Given the description of an element on the screen output the (x, y) to click on. 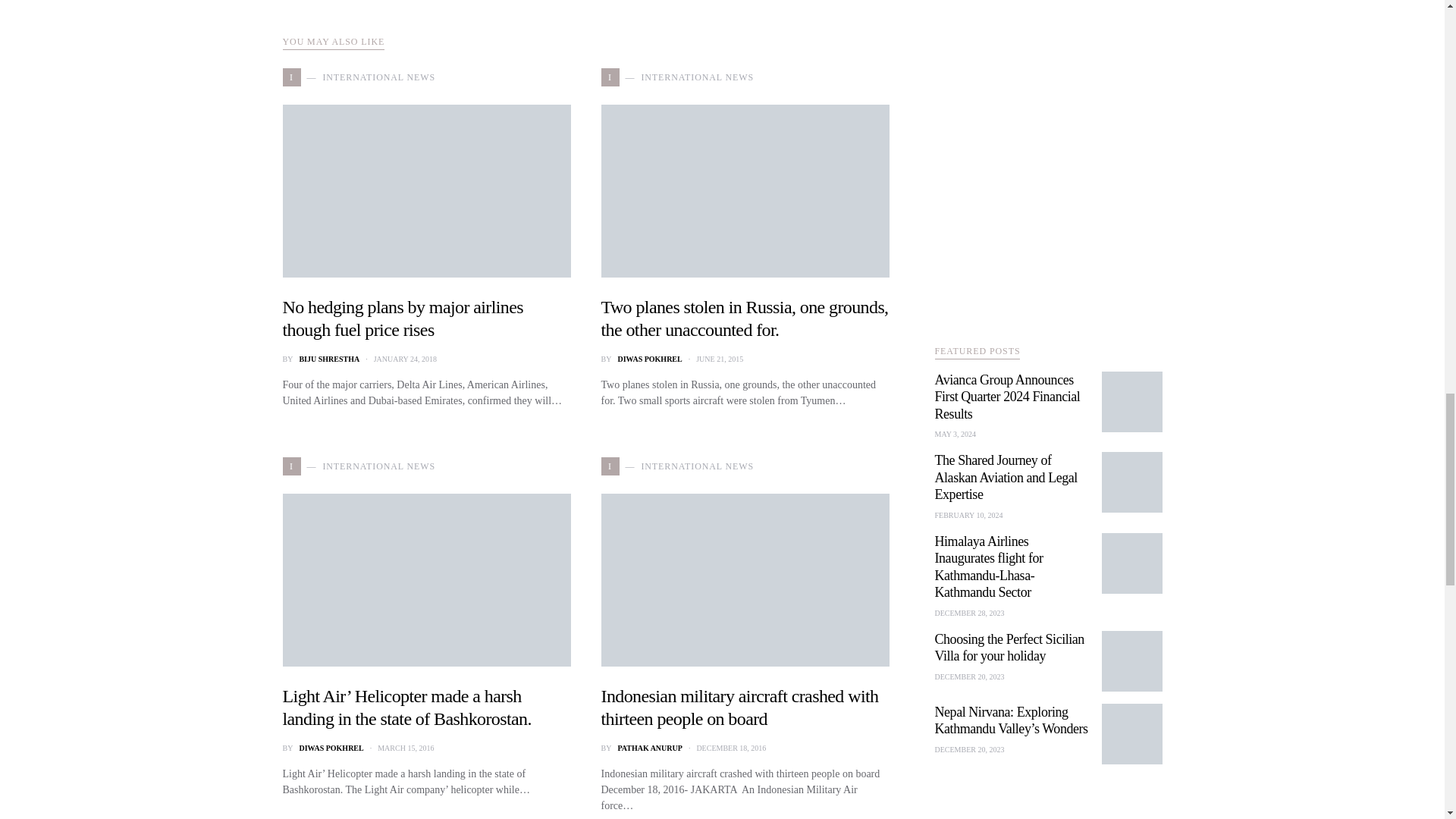
View all posts by Diwas Pokhrel (330, 747)
View all posts by Pathak Anurup (649, 747)
View all posts by Biju Shrestha (328, 358)
View all posts by Diwas Pokhrel (649, 358)
